Given the description of an element on the screen output the (x, y) to click on. 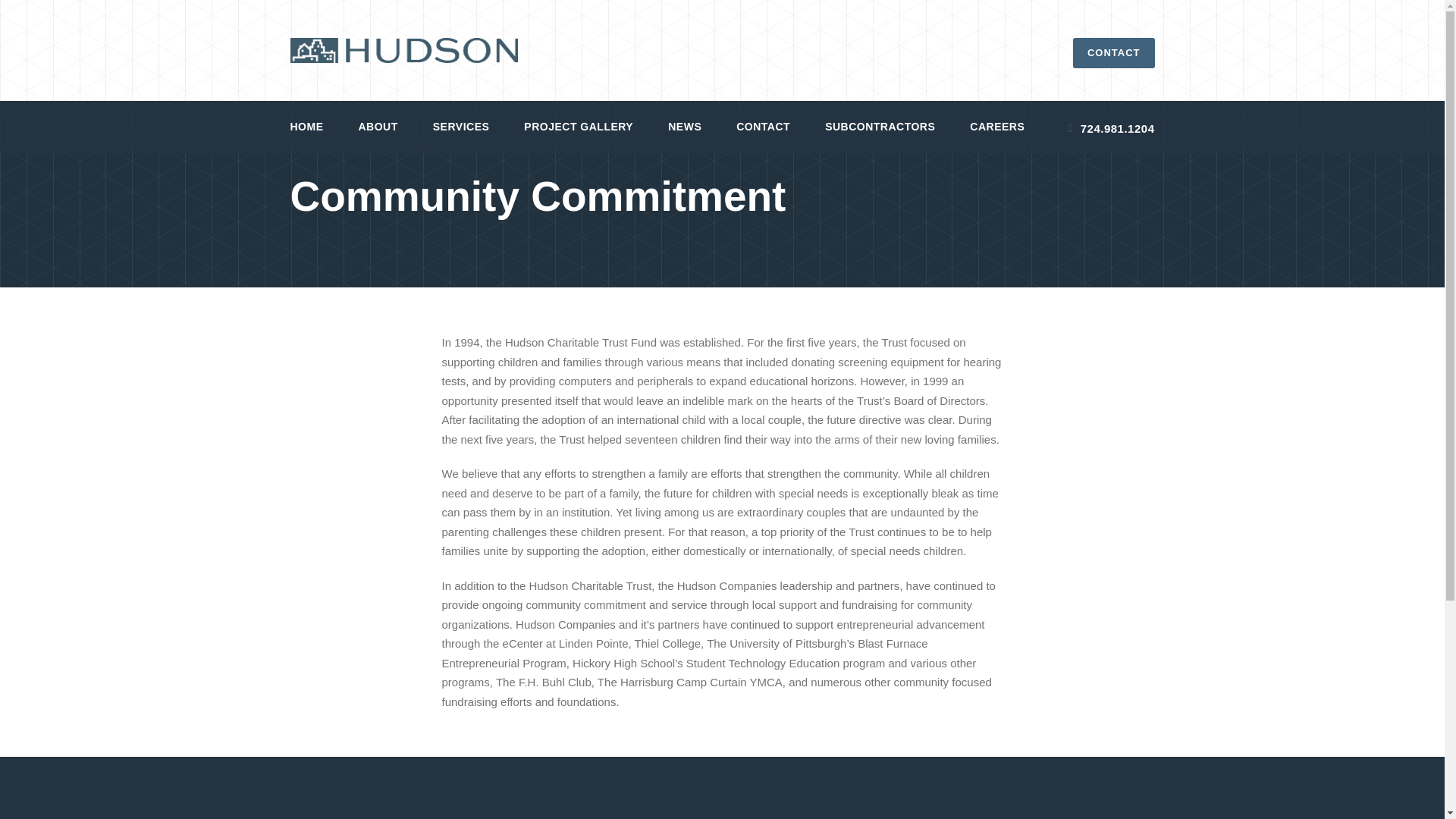
CONTACT (1113, 52)
SERVICES (460, 135)
PROJECT GALLERY (578, 135)
724.981.1204 (1111, 128)
ABOUT (377, 135)
HOME (306, 135)
NEWS (684, 135)
CONTACT (763, 135)
SUBCONTRACTORS (879, 135)
CAREERS (997, 135)
